Given the description of an element on the screen output the (x, y) to click on. 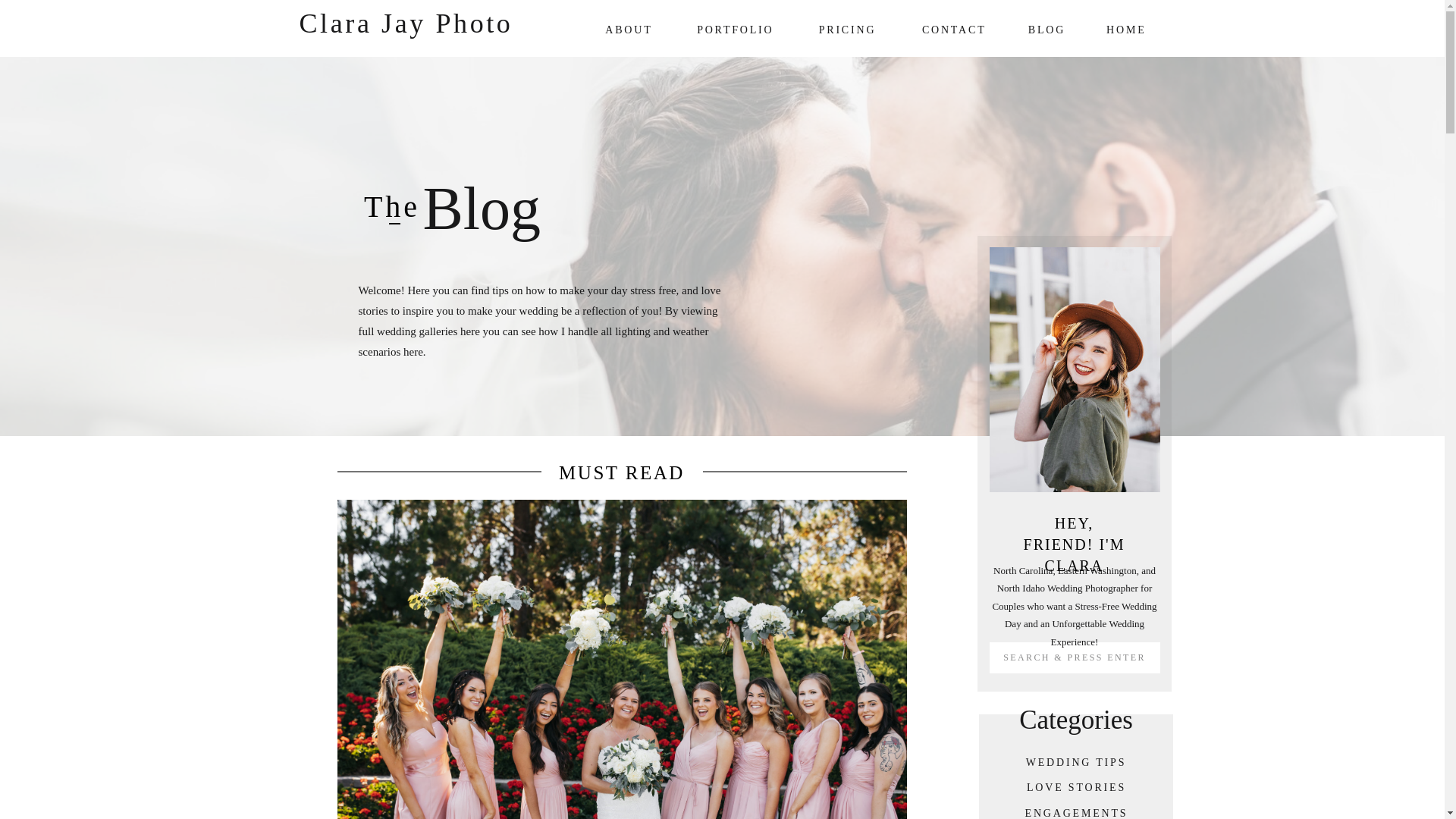
PRICING (847, 28)
LOVE STORIES (1076, 785)
WEDDING TIPS (1075, 760)
BLOG (1046, 28)
ENGAGEMENTS (1075, 811)
HOME (1118, 28)
CONTACT (947, 28)
PORTFOLIO (729, 28)
ABOUT (622, 28)
